Given the description of an element on the screen output the (x, y) to click on. 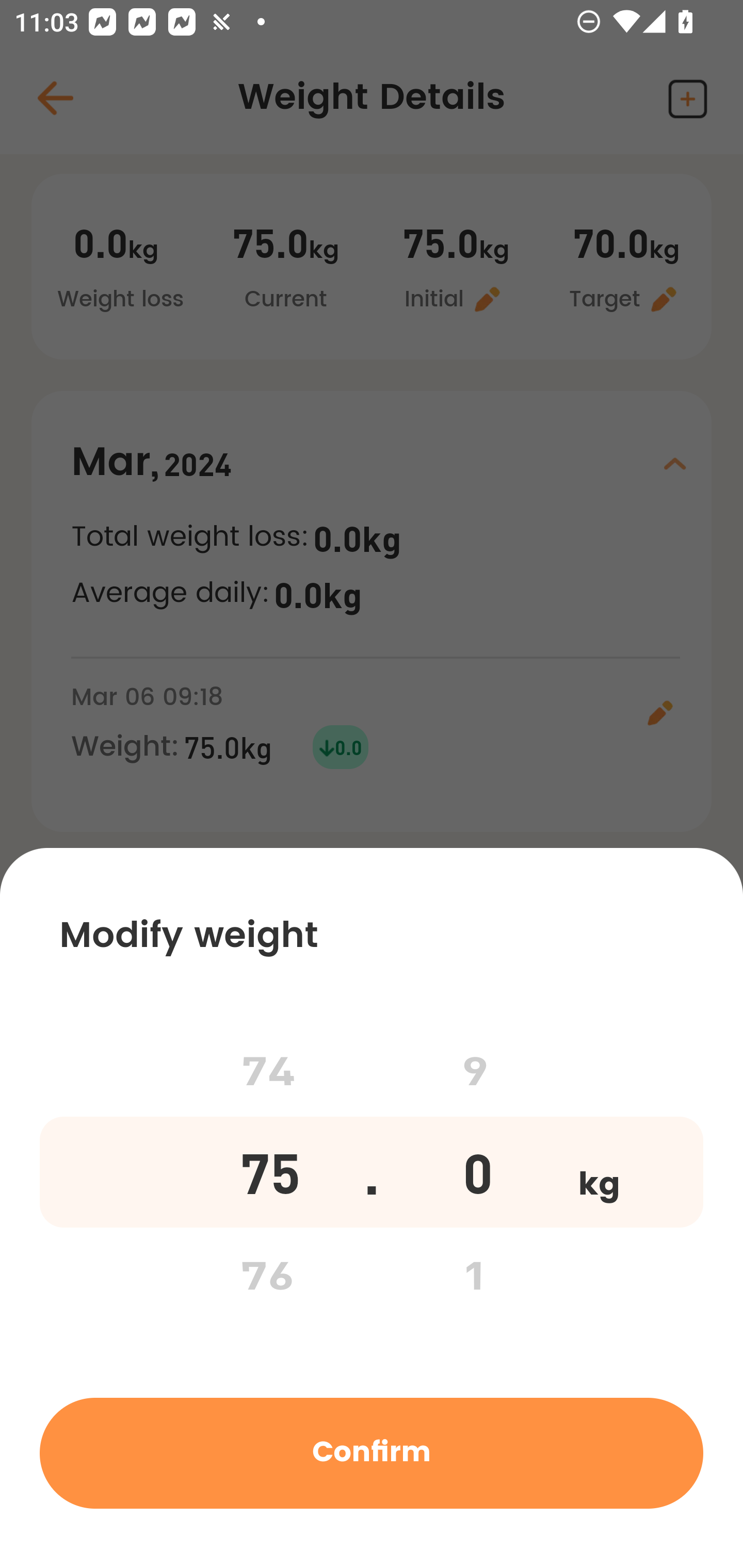
Confirm (371, 1452)
